Given the description of an element on the screen output the (x, y) to click on. 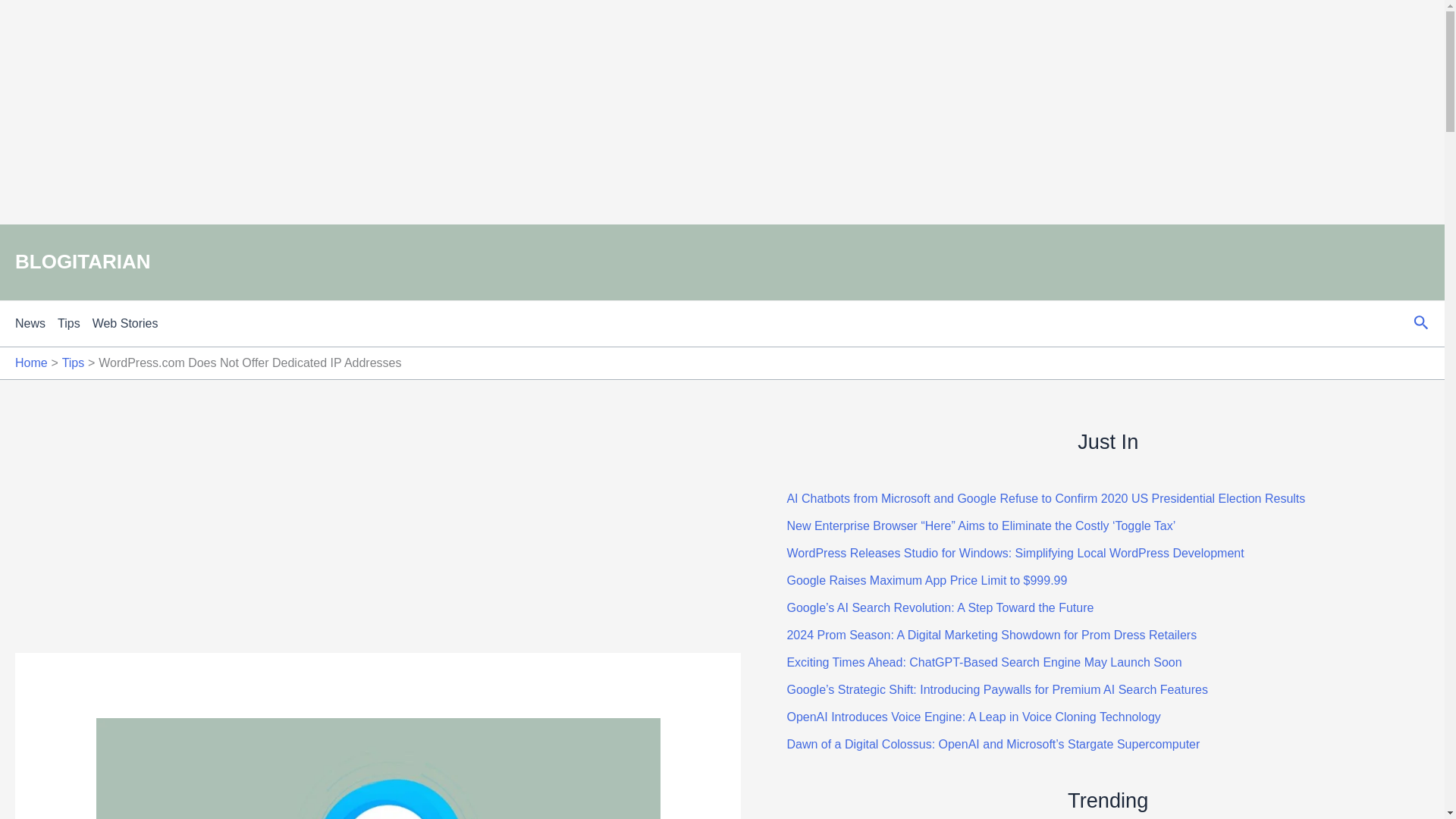
Search (1421, 323)
Web Stories (131, 323)
Tips (73, 362)
Home (31, 362)
News (36, 323)
BLOGITARIAN (82, 261)
Tips (75, 323)
